Given the description of an element on the screen output the (x, y) to click on. 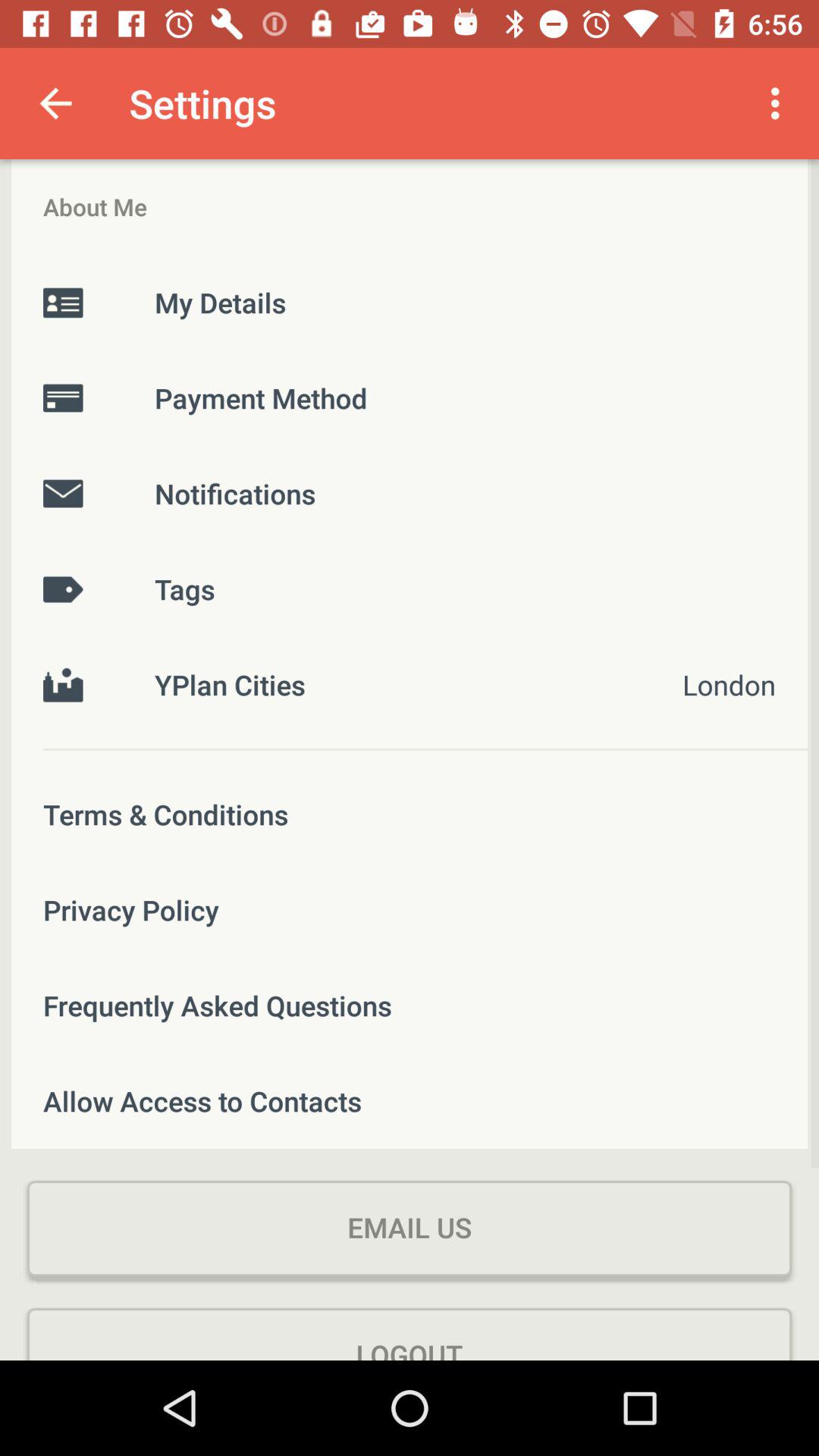
click item next to the  settings app (779, 103)
